Given the description of an element on the screen output the (x, y) to click on. 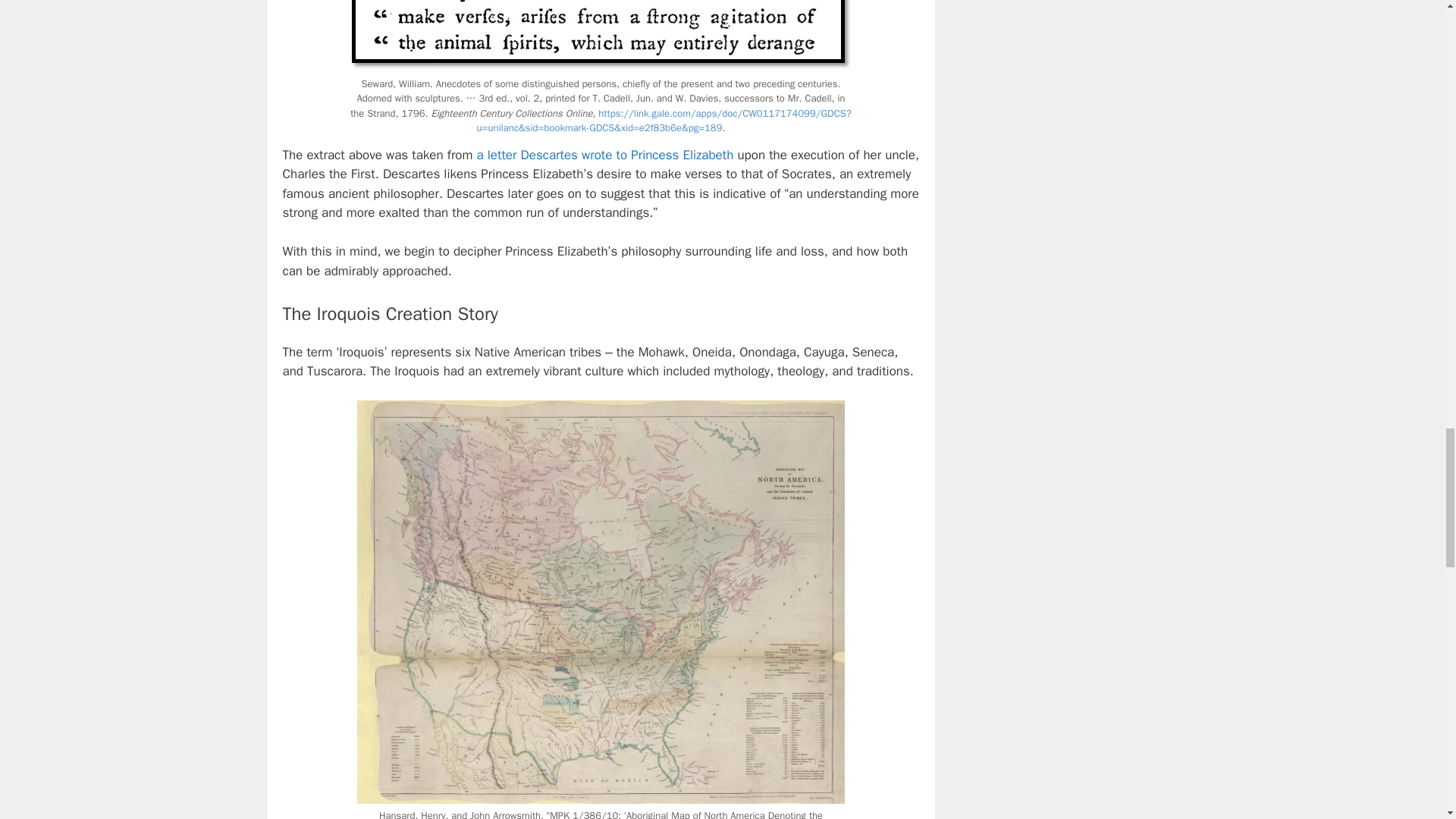
a letter Descartes wrote to Princess Elizabeth (605, 154)
